Given the description of an element on the screen output the (x, y) to click on. 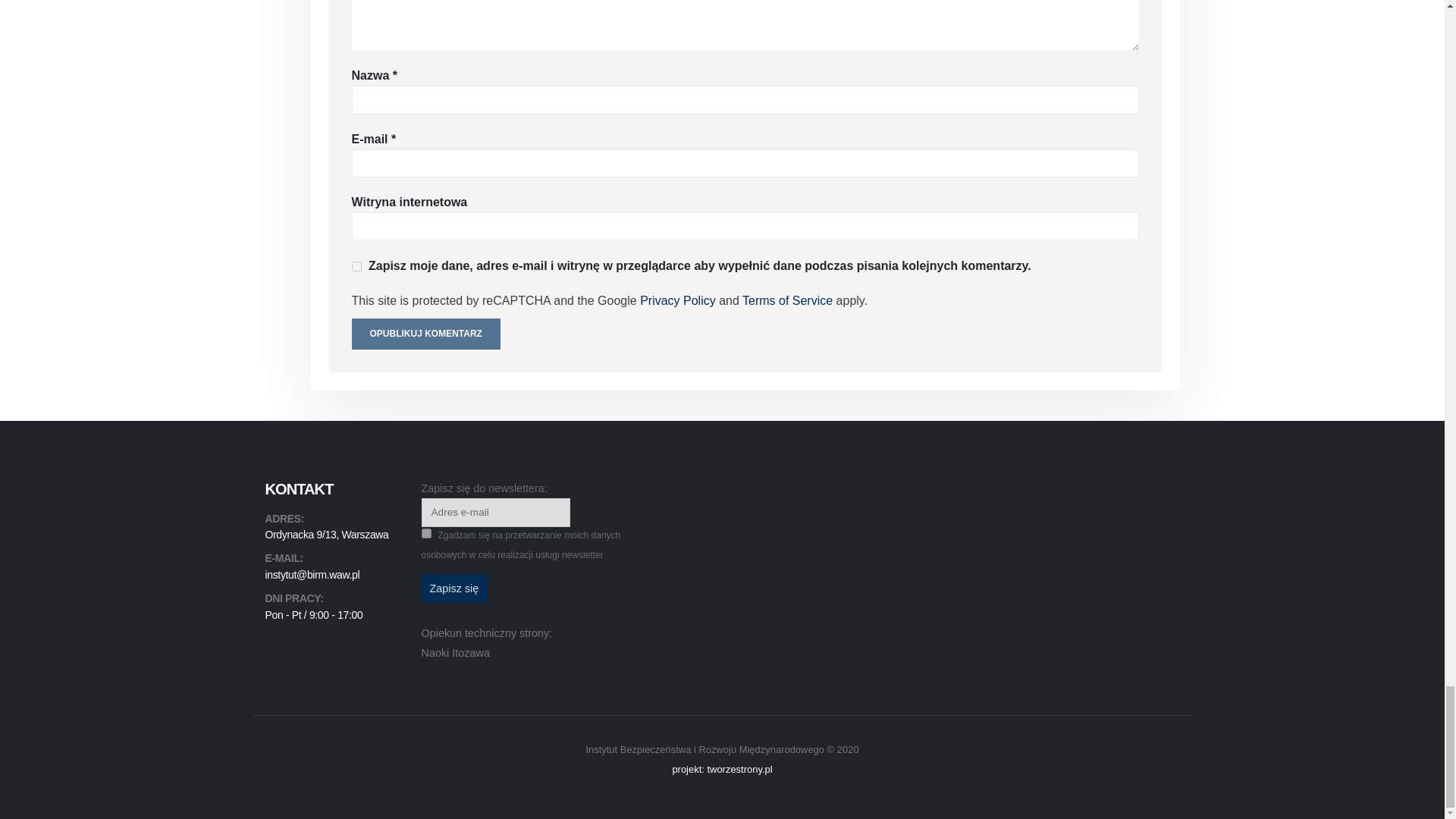
1 (426, 533)
Opublikuj komentarz (426, 333)
yes (356, 266)
